Given the description of an element on the screen output the (x, y) to click on. 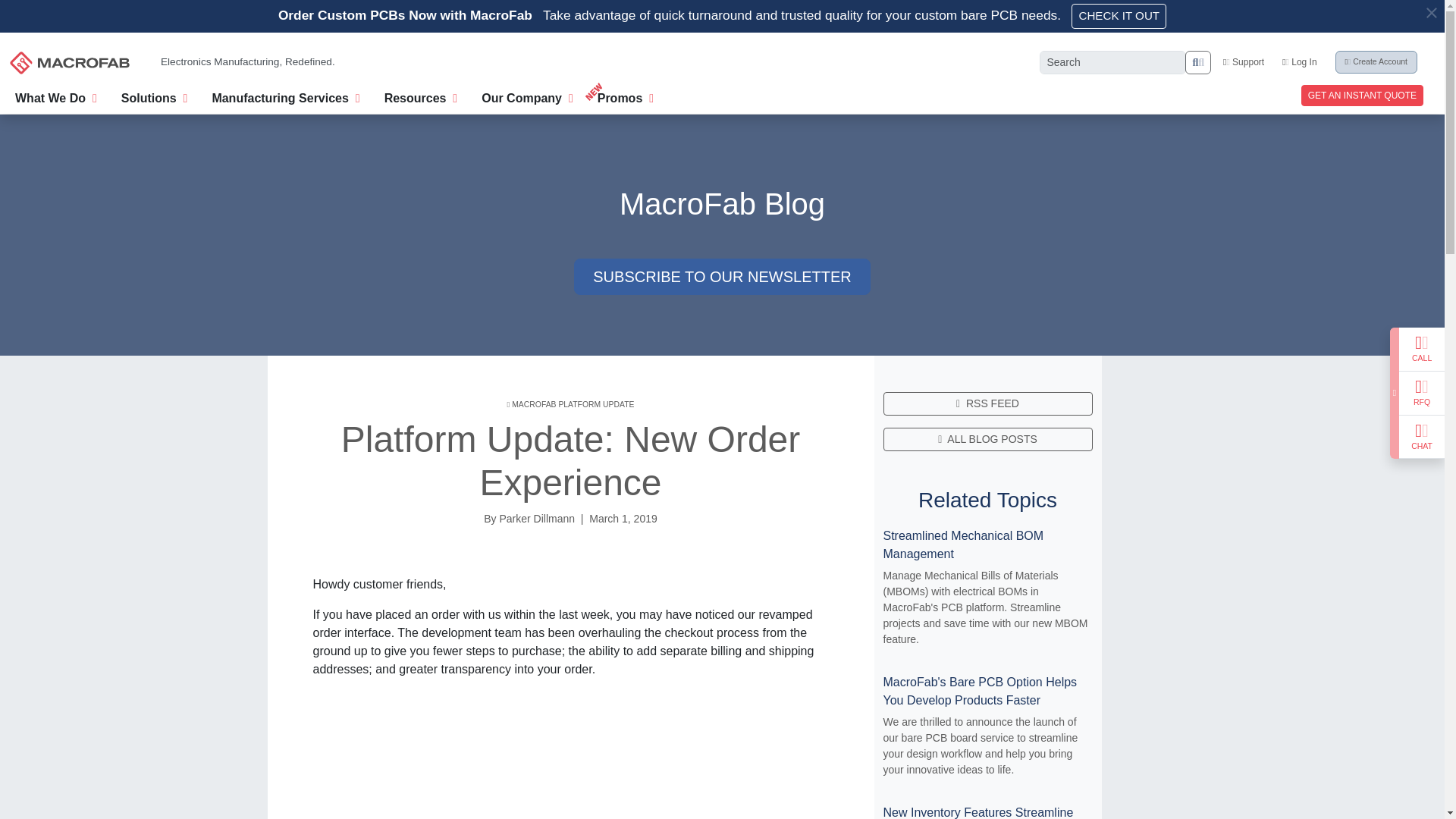
 Support (1243, 61)
Solutions   (154, 95)
 Log In (1299, 61)
CHECK IT OUT (1118, 16)
What We Do   (55, 95)
 Create Account (1375, 61)
